Given the description of an element on the screen output the (x, y) to click on. 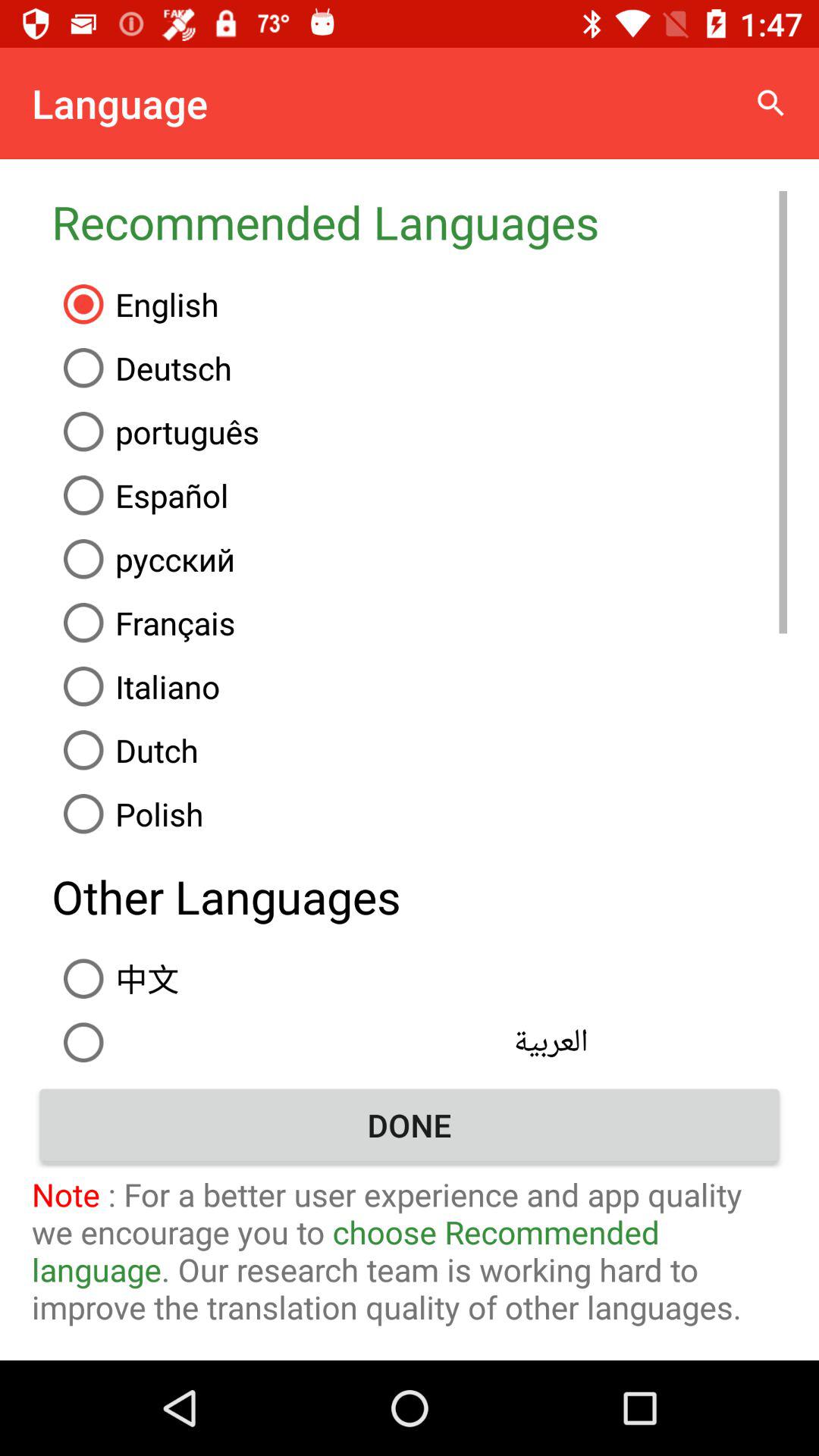
open the item above the italiano item (419, 622)
